Given the description of an element on the screen output the (x, y) to click on. 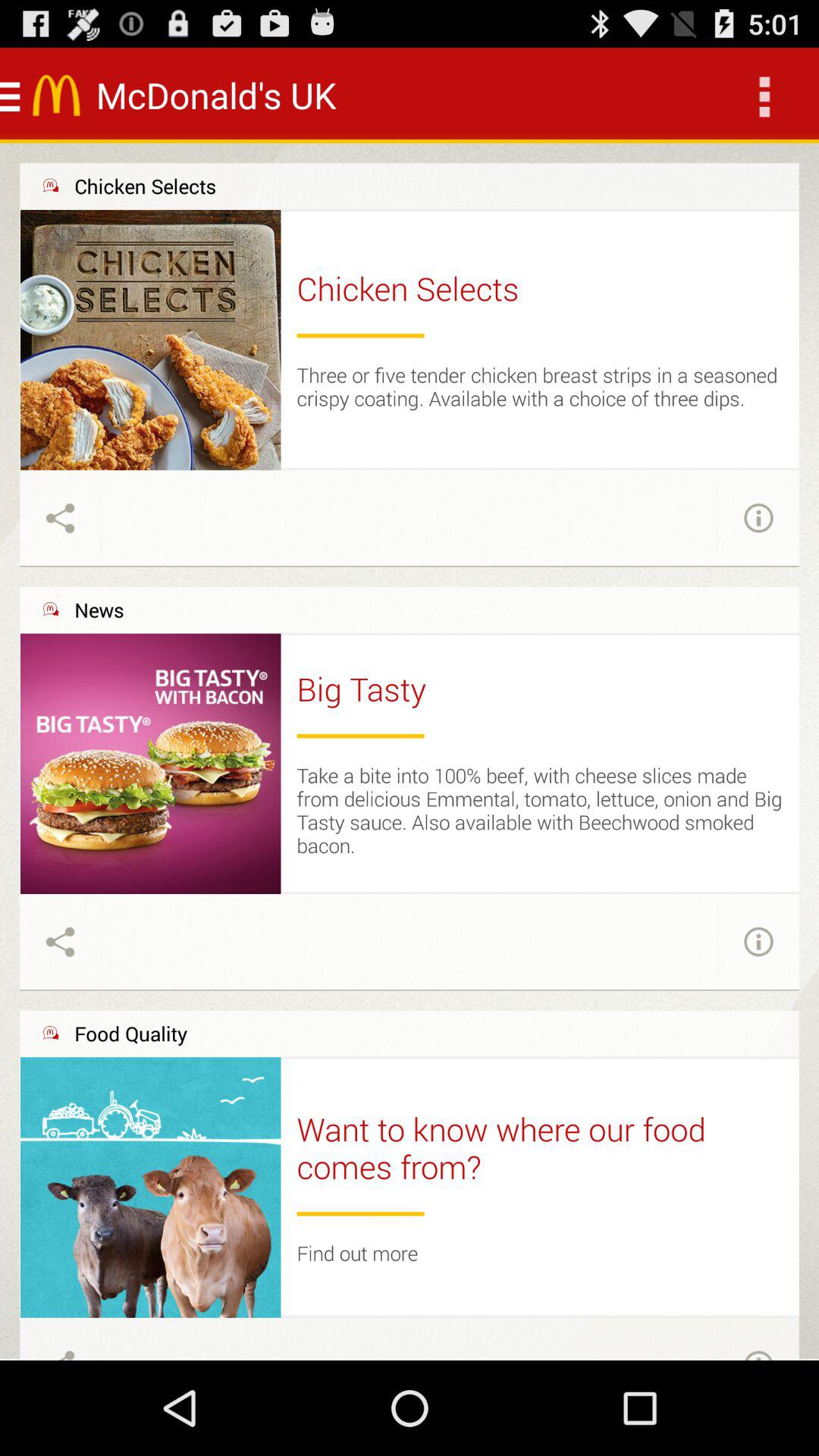
turn on the icon above find out more (360, 1213)
